Given the description of an element on the screen output the (x, y) to click on. 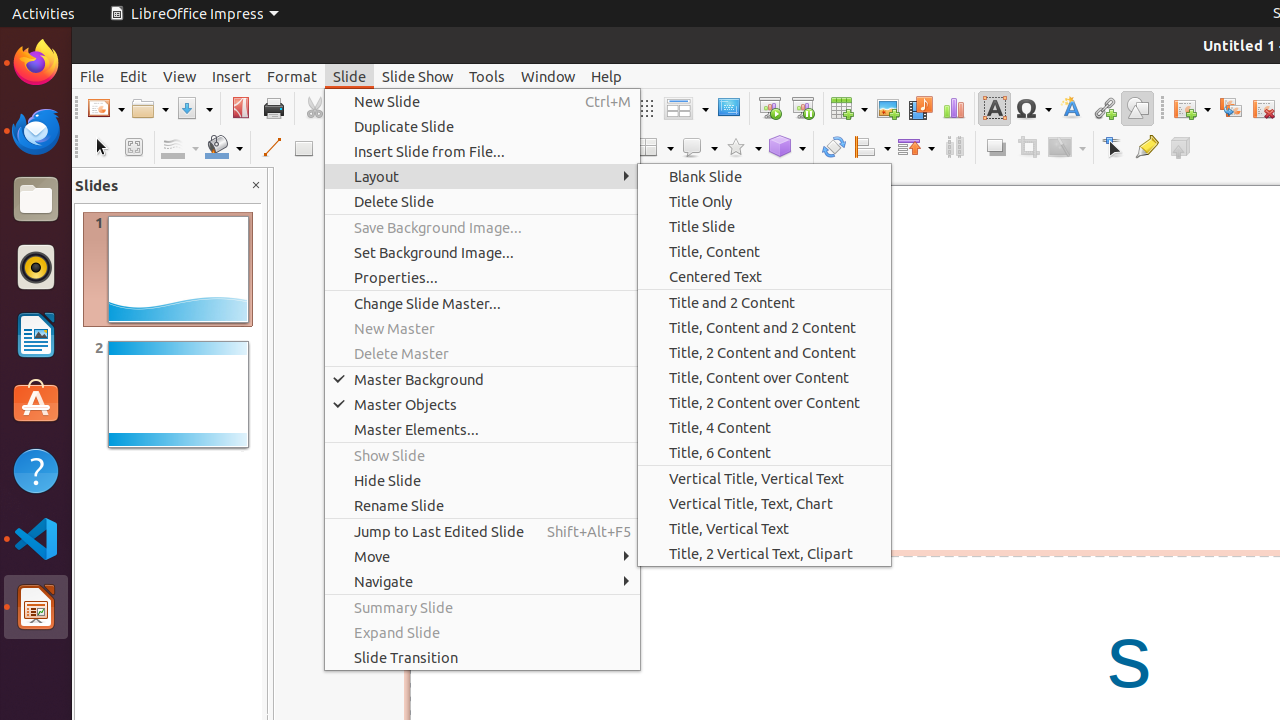
Close Pane Element type: push-button (255, 185)
Change Slide Master... Element type: menu-item (482, 303)
Title, Content over Content Element type: menu-item (764, 377)
Title, 2 Vertical Text, Clipart Element type: menu-item (764, 553)
Delete Master Element type: menu-item (482, 353)
